Given the description of an element on the screen output the (x, y) to click on. 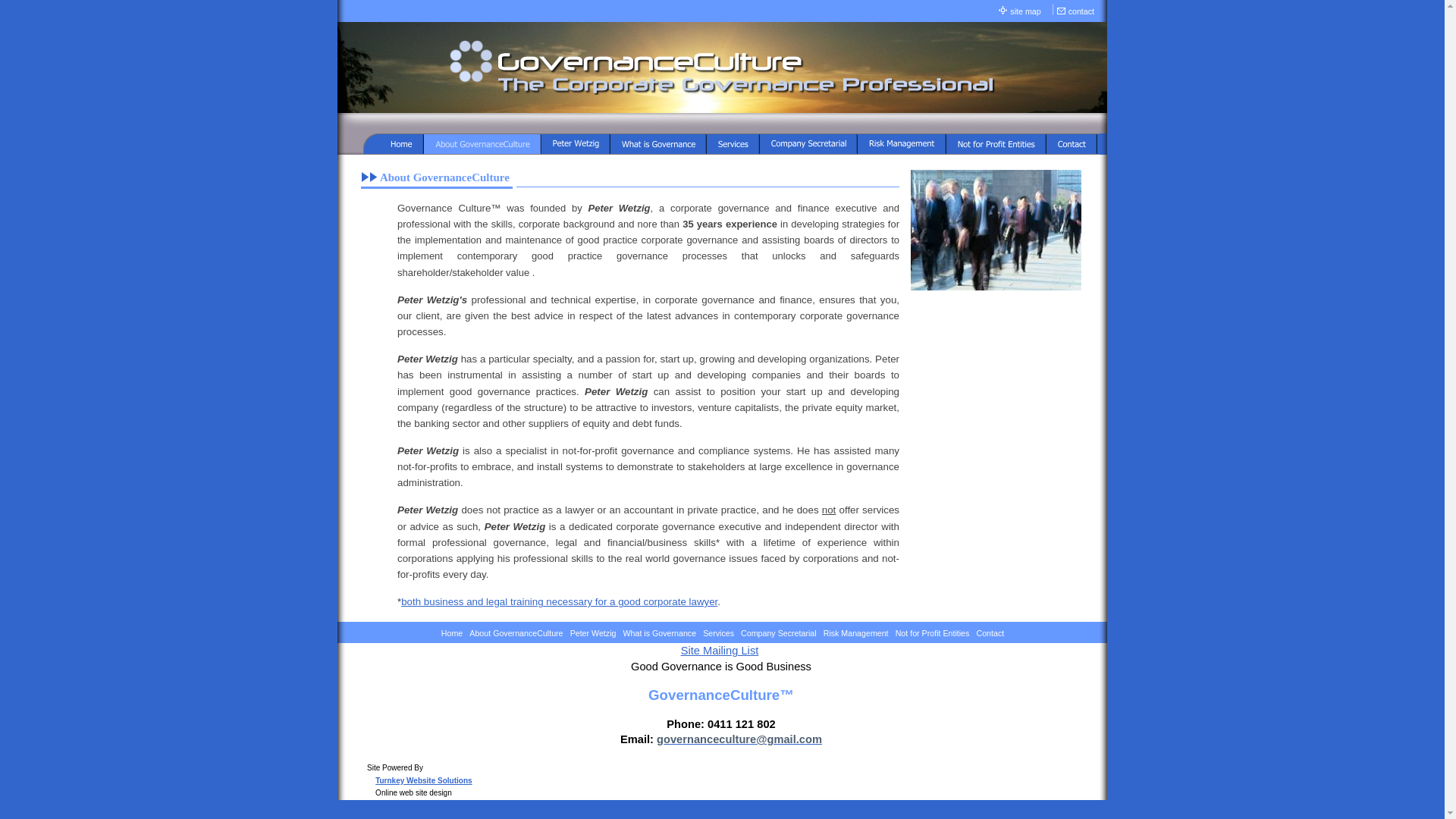
site map Element type: text (1025, 11)
About GovernanceCulture Element type: text (515, 633)
Not for Profit Entities Element type: text (932, 633)
Company Secretarial Element type: text (778, 633)
Contact Element type: text (989, 633)
Risk Management Element type: text (856, 633)
governanceculture@gmail.com Element type: text (739, 739)
Site Mailing List Element type: text (719, 650)
Services Element type: text (718, 633)
Peter Wetzig Element type: text (593, 633)
Home Element type: text (451, 633)
contact Element type: text (1081, 11)
What is Governance Element type: text (659, 633)
Turnkey Website Solutions Element type: text (423, 780)
